Given the description of an element on the screen output the (x, y) to click on. 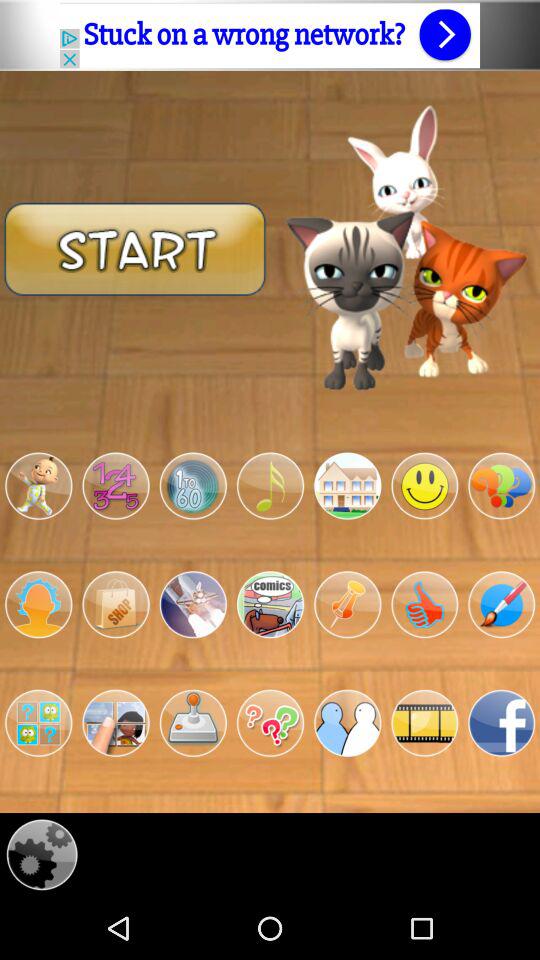
stop the game (115, 604)
